Given the description of an element on the screen output the (x, y) to click on. 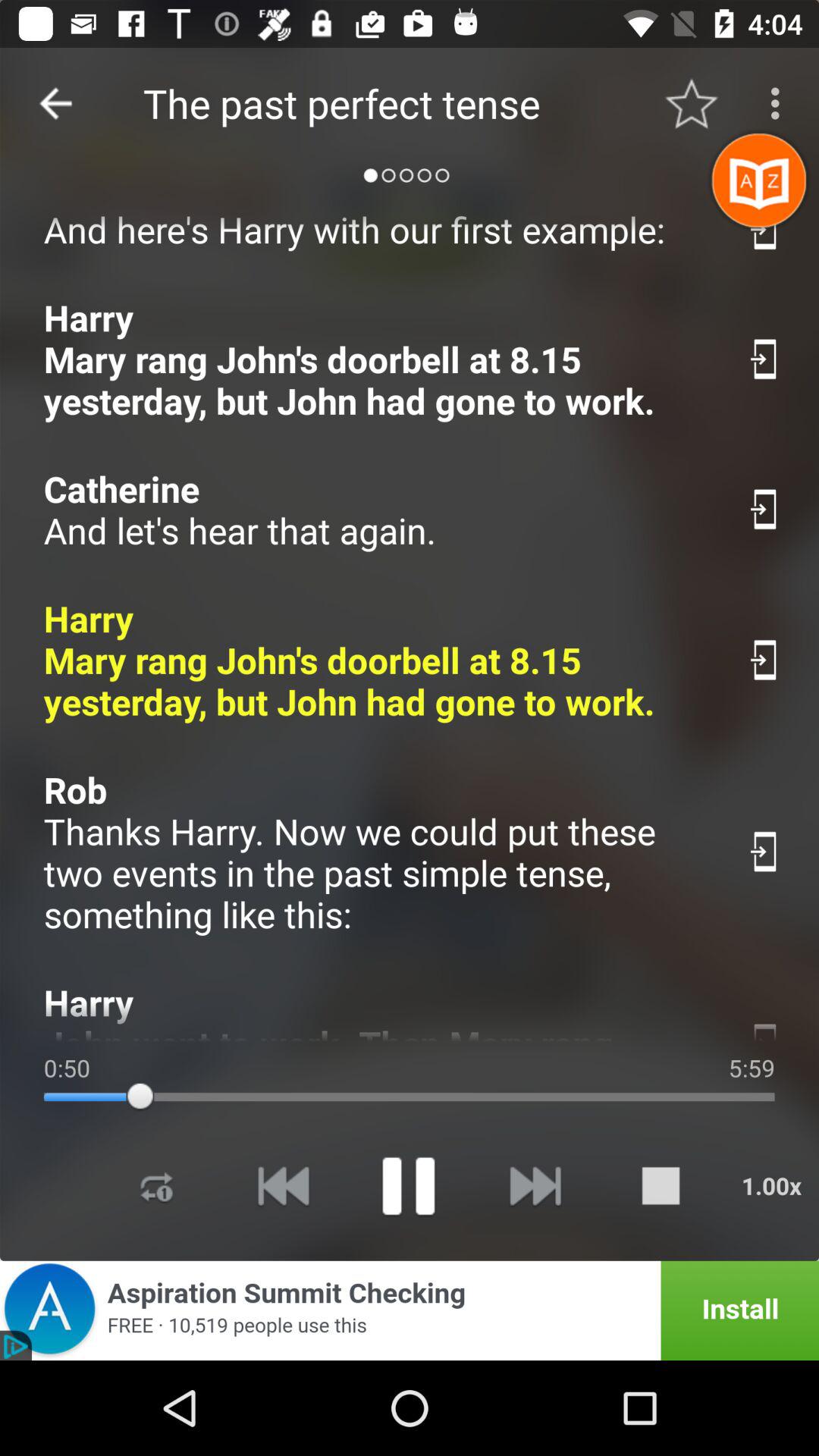
scroll to the 1.00x (771, 1185)
